Given the description of an element on the screen output the (x, y) to click on. 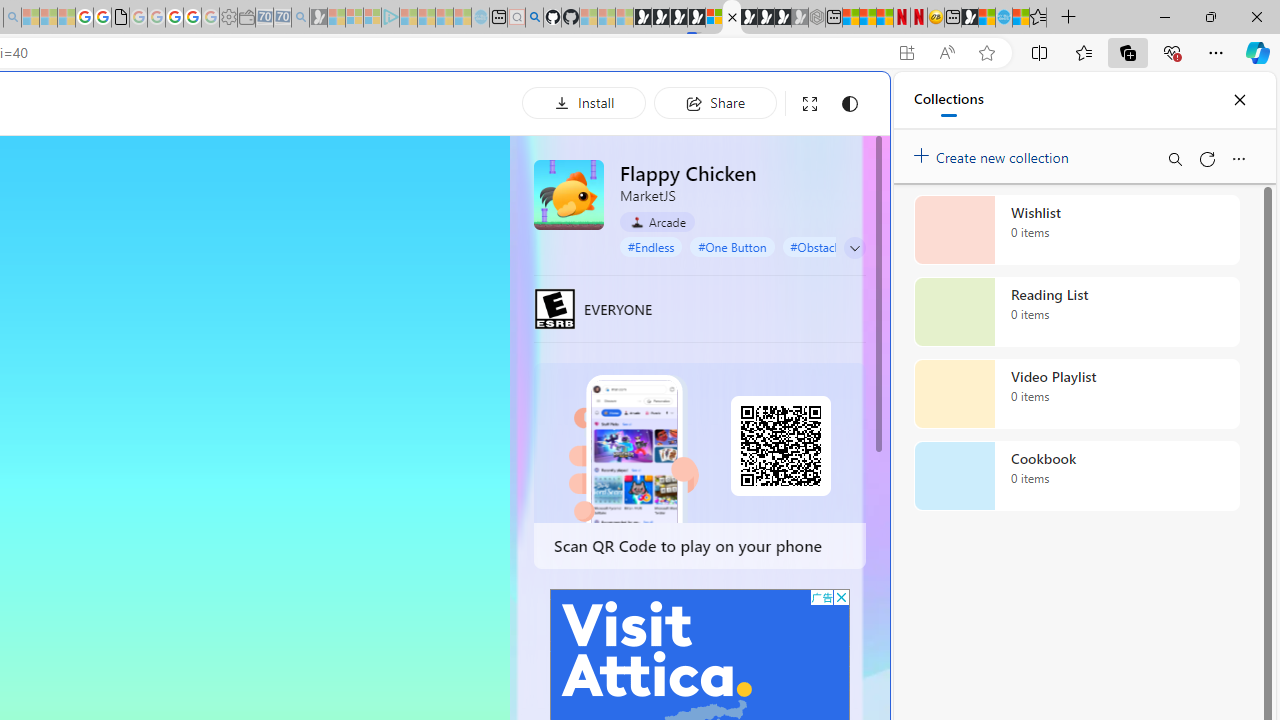
#Endless (651, 246)
Arcade (657, 222)
Class: control (855, 248)
Close split screen (844, 102)
#One Button (731, 246)
Cookbook collection, 0 items (1076, 475)
Microsoft Start Gaming - Sleeping (317, 17)
Bing Real Estate - Home sales and rental listings - Sleeping (299, 17)
